Given the description of an element on the screen output the (x, y) to click on. 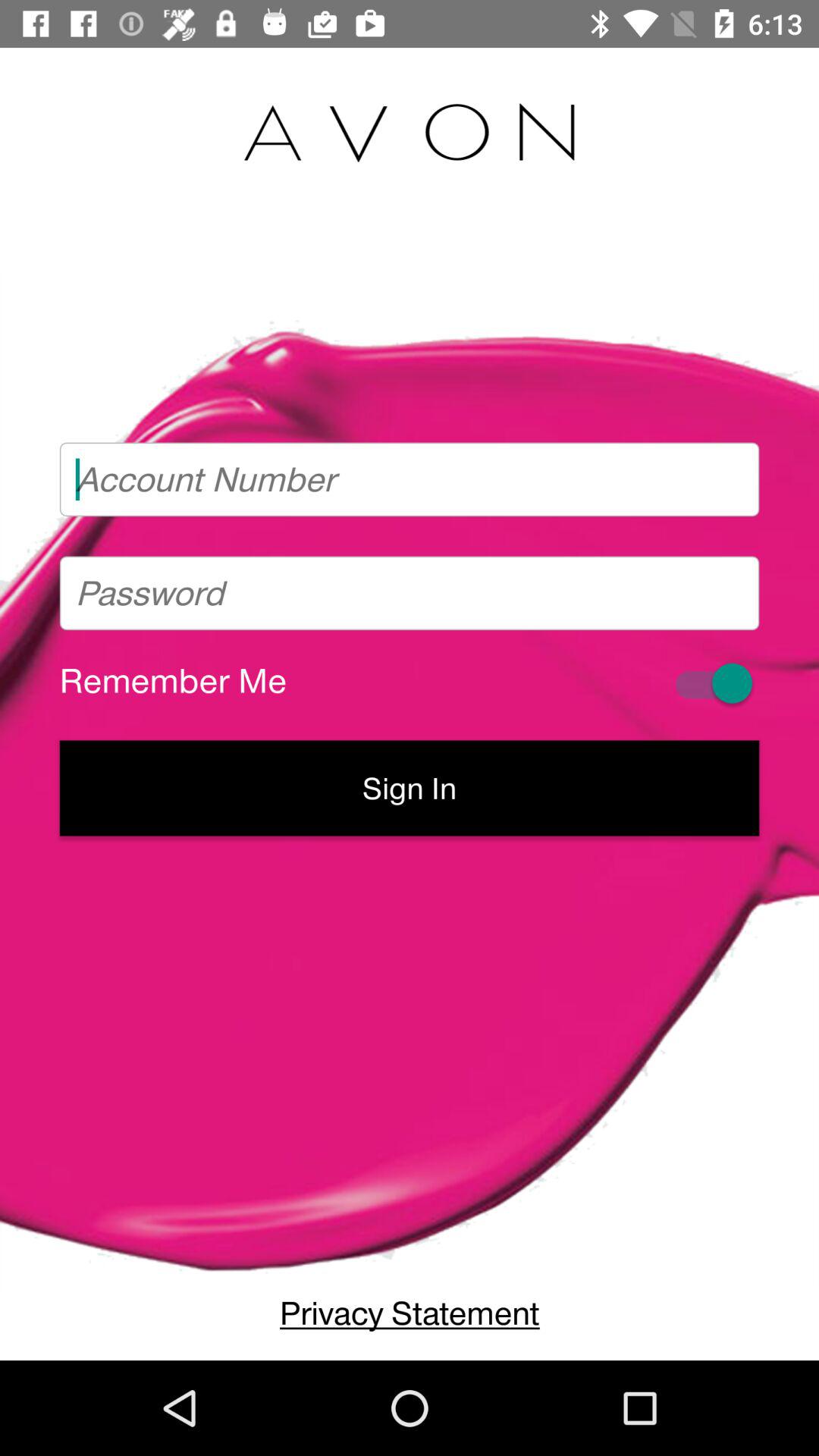
turn off setting (711, 683)
